Given the description of an element on the screen output the (x, y) to click on. 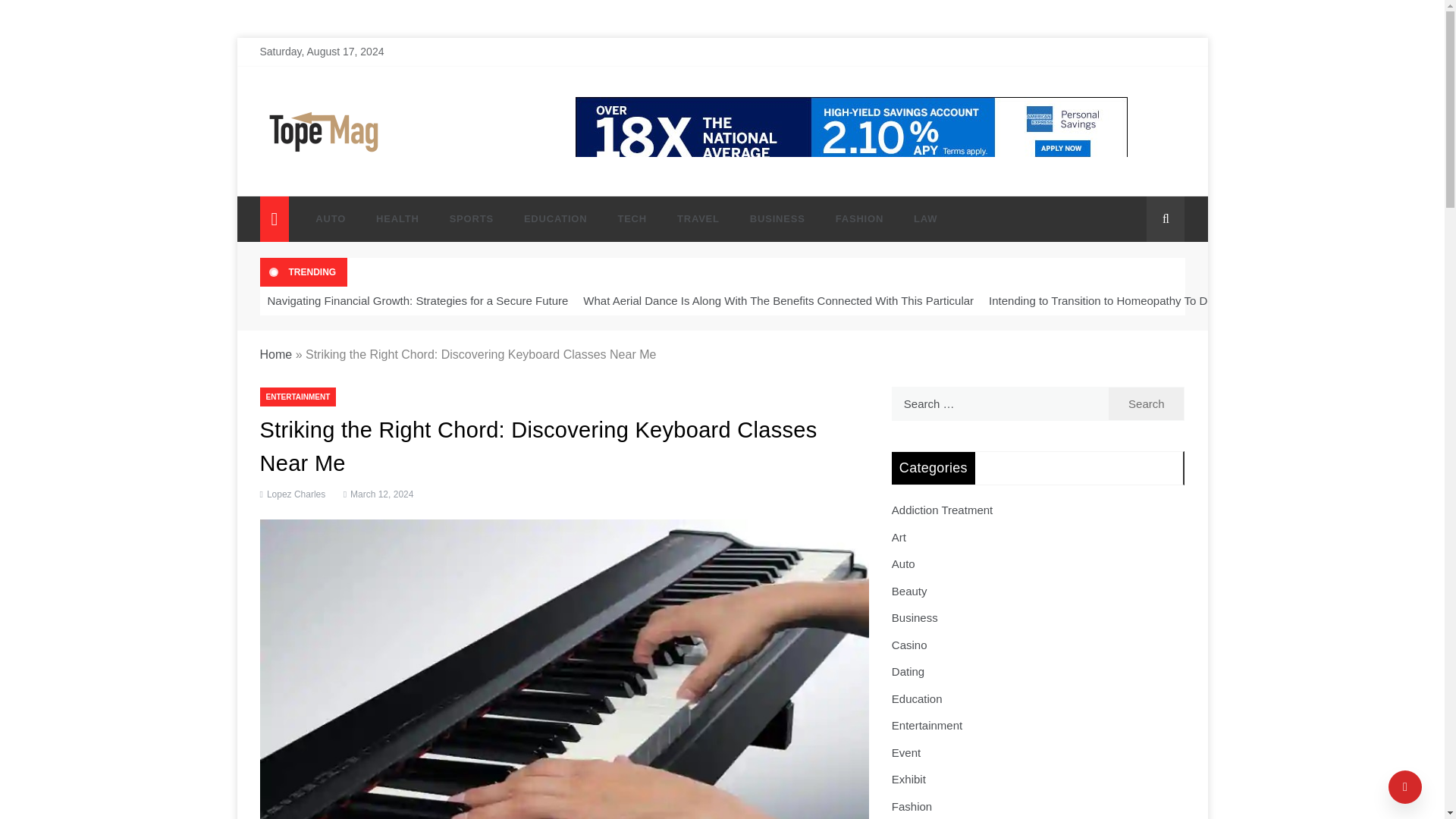
EDUCATION (555, 218)
Search (1146, 403)
TECH (632, 218)
TRAVEL (698, 218)
AUTO (330, 218)
March 12, 2024 (376, 493)
BUSINESS (778, 218)
Navigating Financial Growth: Strategies for a Secure Future (417, 300)
Lopez Charles (295, 493)
